Given the description of an element on the screen output the (x, y) to click on. 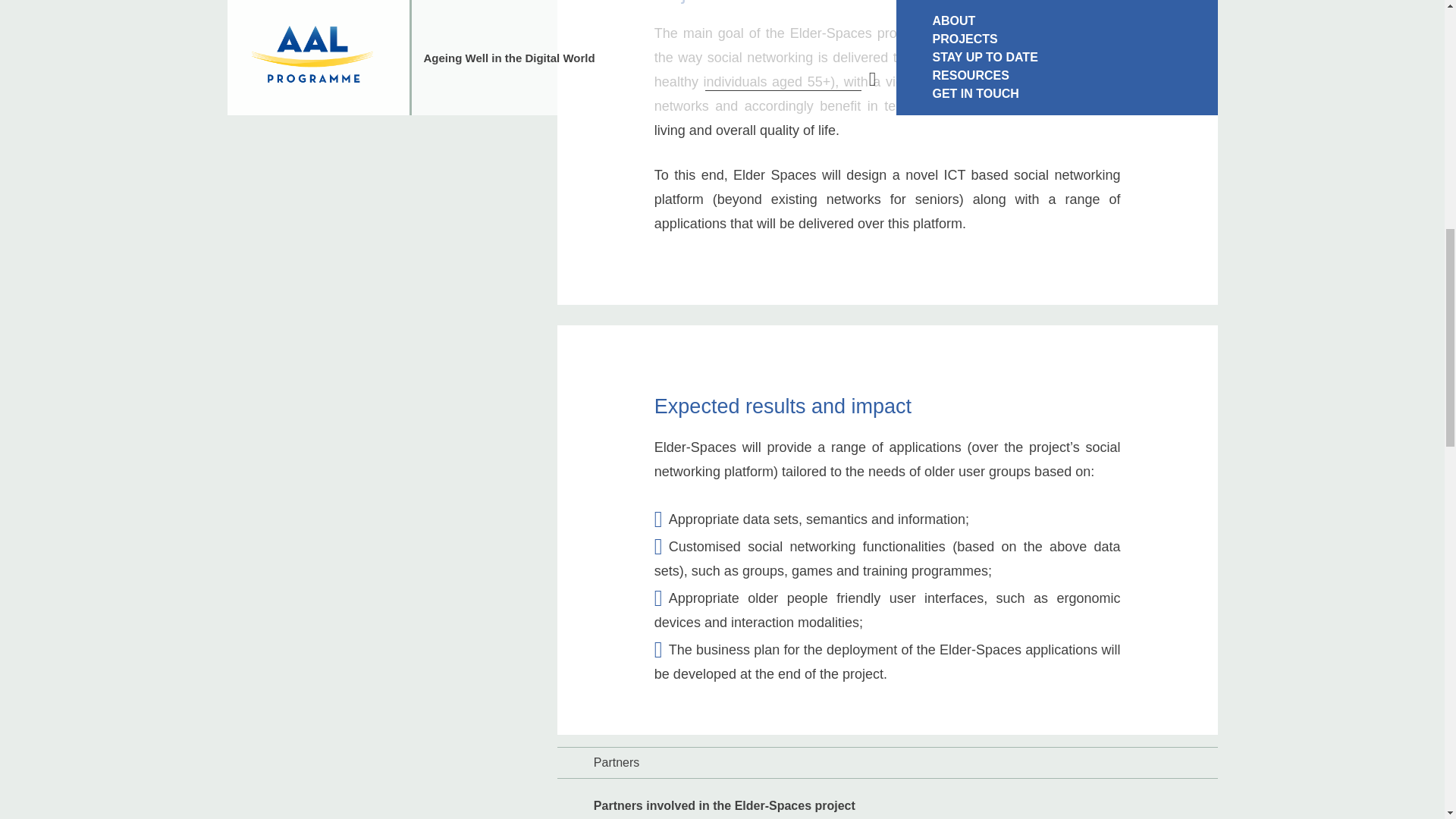
Read more (874, 729)
